Given the description of an element on the screen output the (x, y) to click on. 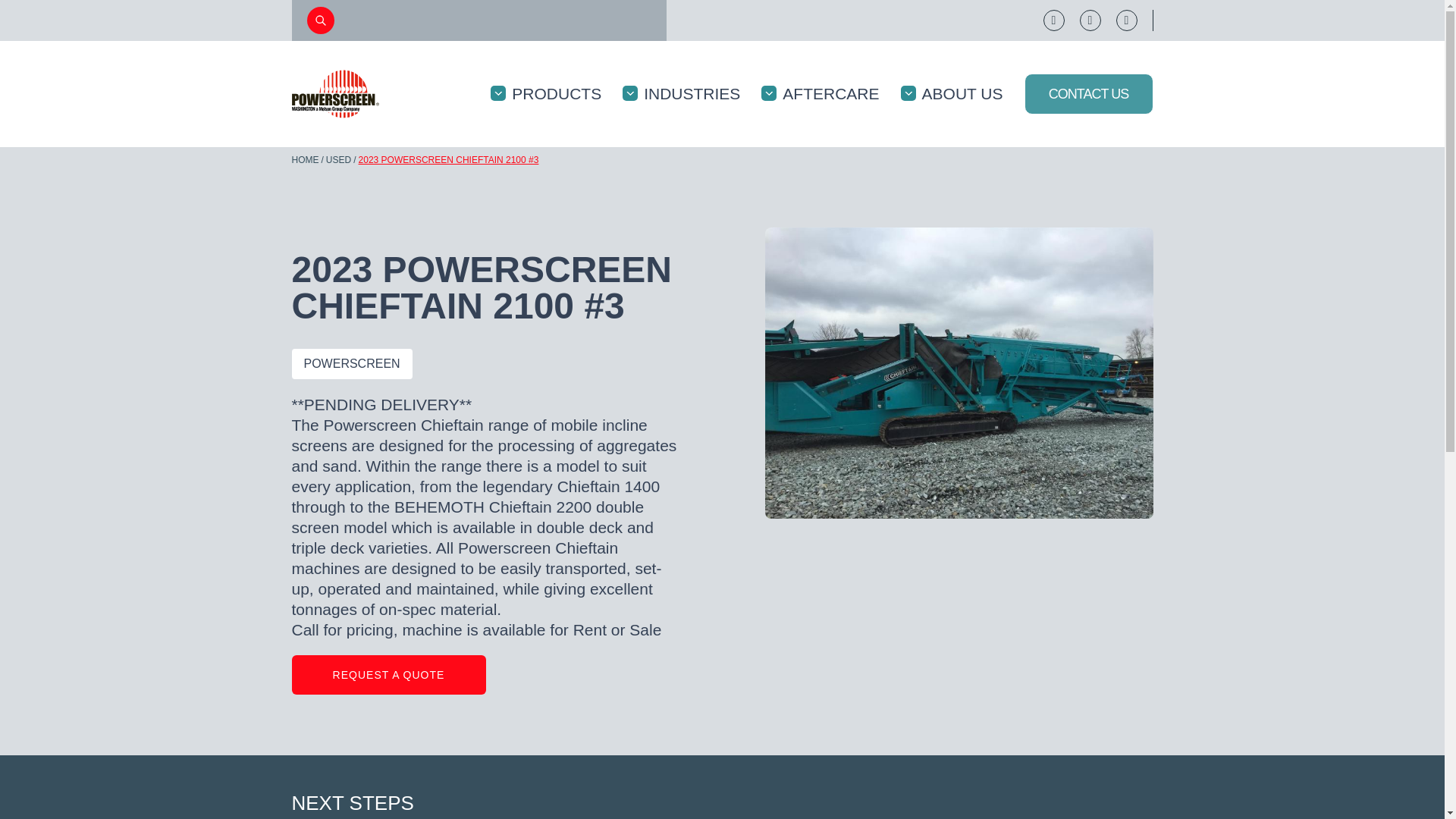
LinkedIn Link (1090, 20)
Instagram Link (1126, 20)
Submit your search request (319, 20)
Facebook Link (1053, 20)
